Given the description of an element on the screen output the (x, y) to click on. 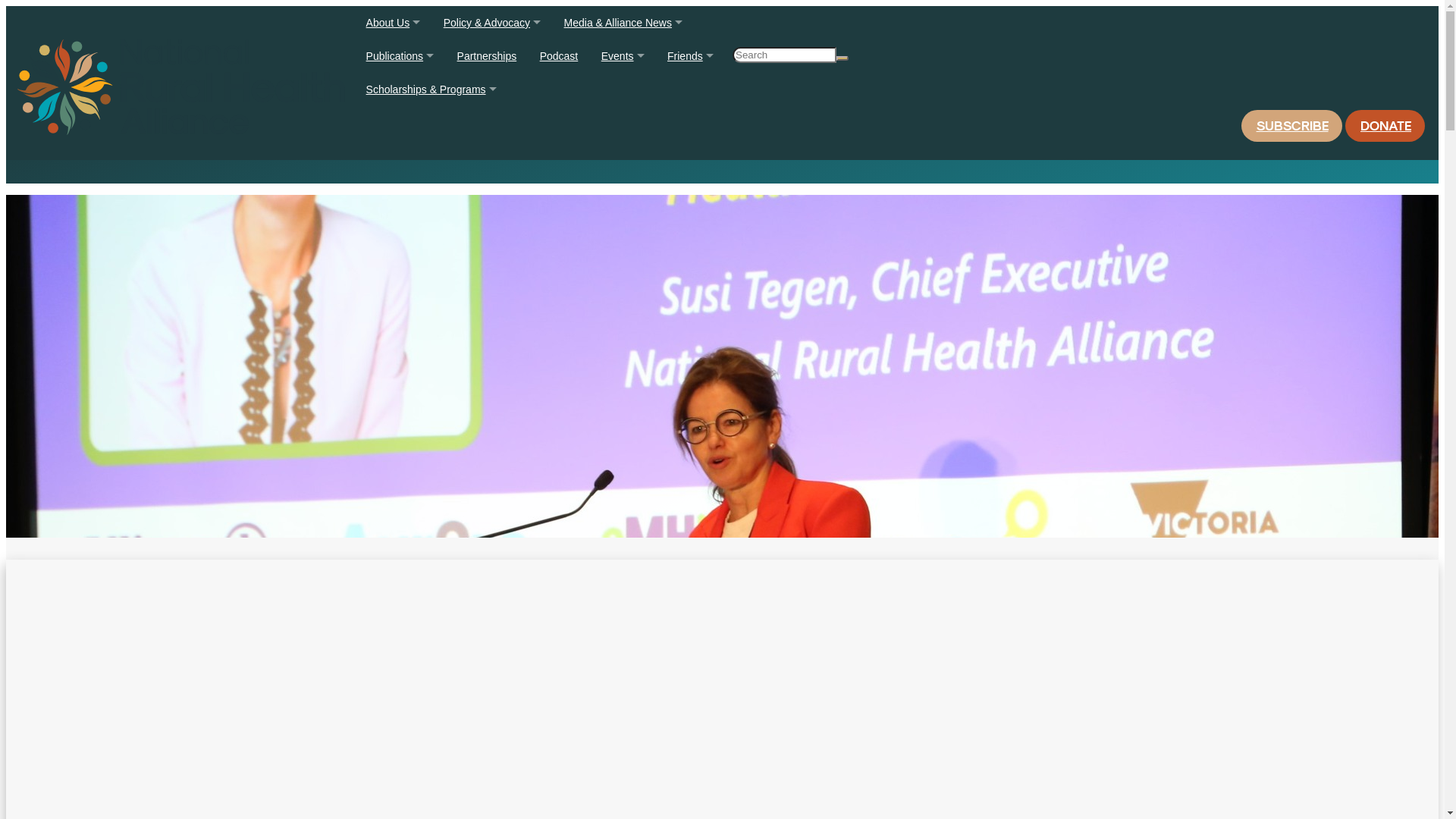
Search Element type: text (733, 63)
Skip to main content Element type: text (6, 6)
Friends Element type: text (690, 55)
About Us Element type: text (393, 22)
Enter the terms you wish to search for. Element type: hover (784, 54)
Partnerships Element type: text (487, 55)
SUBSCRIBE Element type: text (1291, 125)
Media & Alliance News Element type: text (623, 22)
Policy & Advocacy Element type: text (492, 22)
Publications Element type: text (400, 55)
DONATE Element type: text (1384, 125)
Home Element type: hover (181, 83)
Podcast Element type: text (559, 55)
Scholarships & Programs Element type: text (431, 89)
Events Element type: text (622, 55)
